Given the description of an element on the screen output the (x, y) to click on. 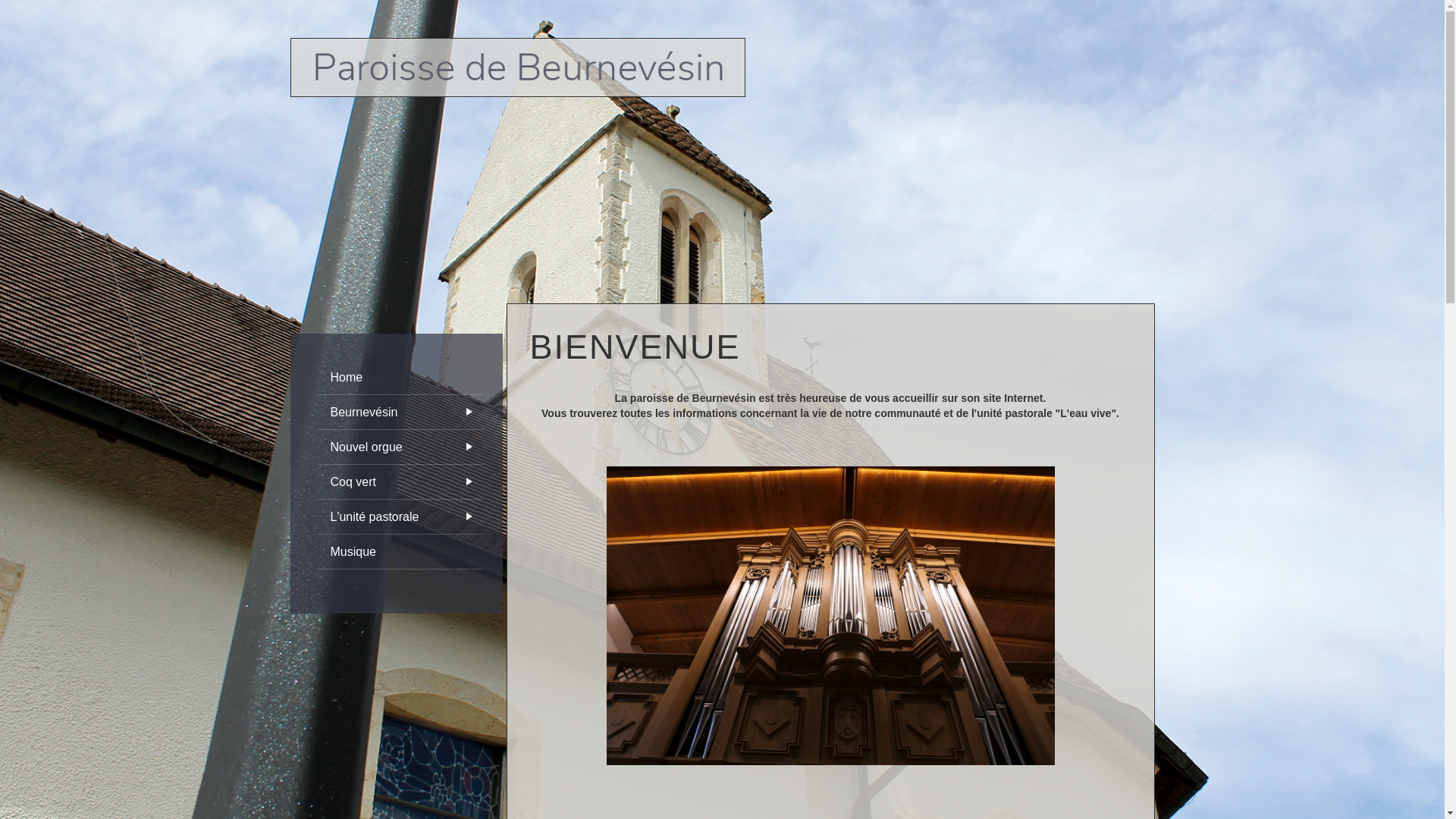
Musique Element type: text (399, 551)
Nouvel orgue Element type: text (399, 446)
Coq vert Element type: text (399, 481)
Home Element type: text (399, 377)
